Given the description of an element on the screen output the (x, y) to click on. 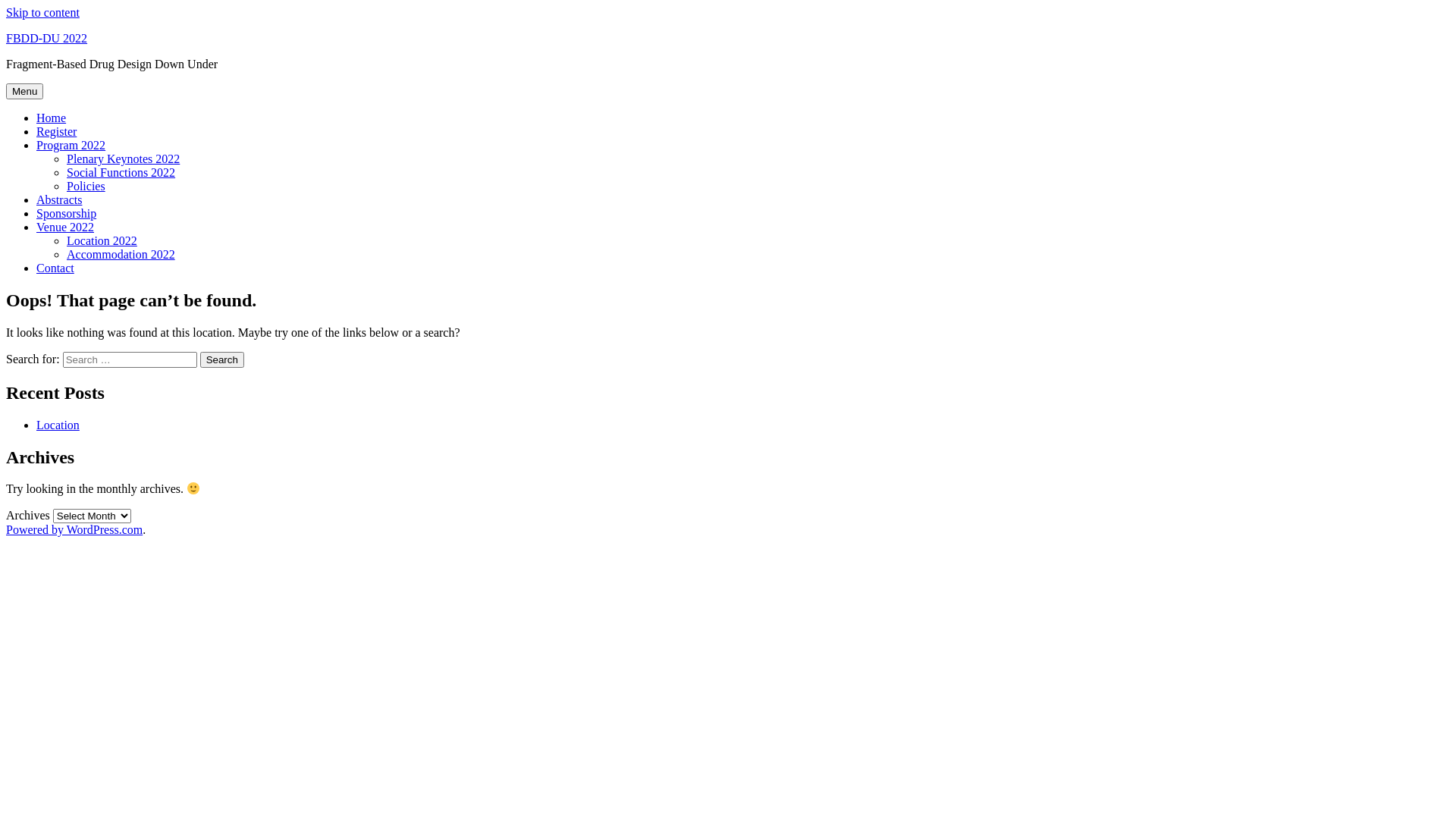
Skip to content Element type: text (42, 12)
Contact Element type: text (55, 267)
Policies Element type: text (85, 185)
Menu Element type: text (24, 91)
Program 2022 Element type: text (70, 144)
Location 2022 Element type: text (101, 240)
Search for: Element type: hover (129, 359)
FBDD-DU 2022 Element type: text (46, 37)
Home Element type: text (50, 117)
Search Element type: text (222, 359)
Accommodation 2022 Element type: text (120, 253)
Location Element type: text (57, 424)
Abstracts Element type: text (58, 199)
Register Element type: text (56, 131)
Plenary Keynotes 2022 Element type: text (122, 158)
Sponsorship Element type: text (66, 213)
Powered by WordPress.com Element type: text (74, 529)
Social Functions 2022 Element type: text (120, 172)
Venue 2022 Element type: text (65, 226)
